Given the description of an element on the screen output the (x, y) to click on. 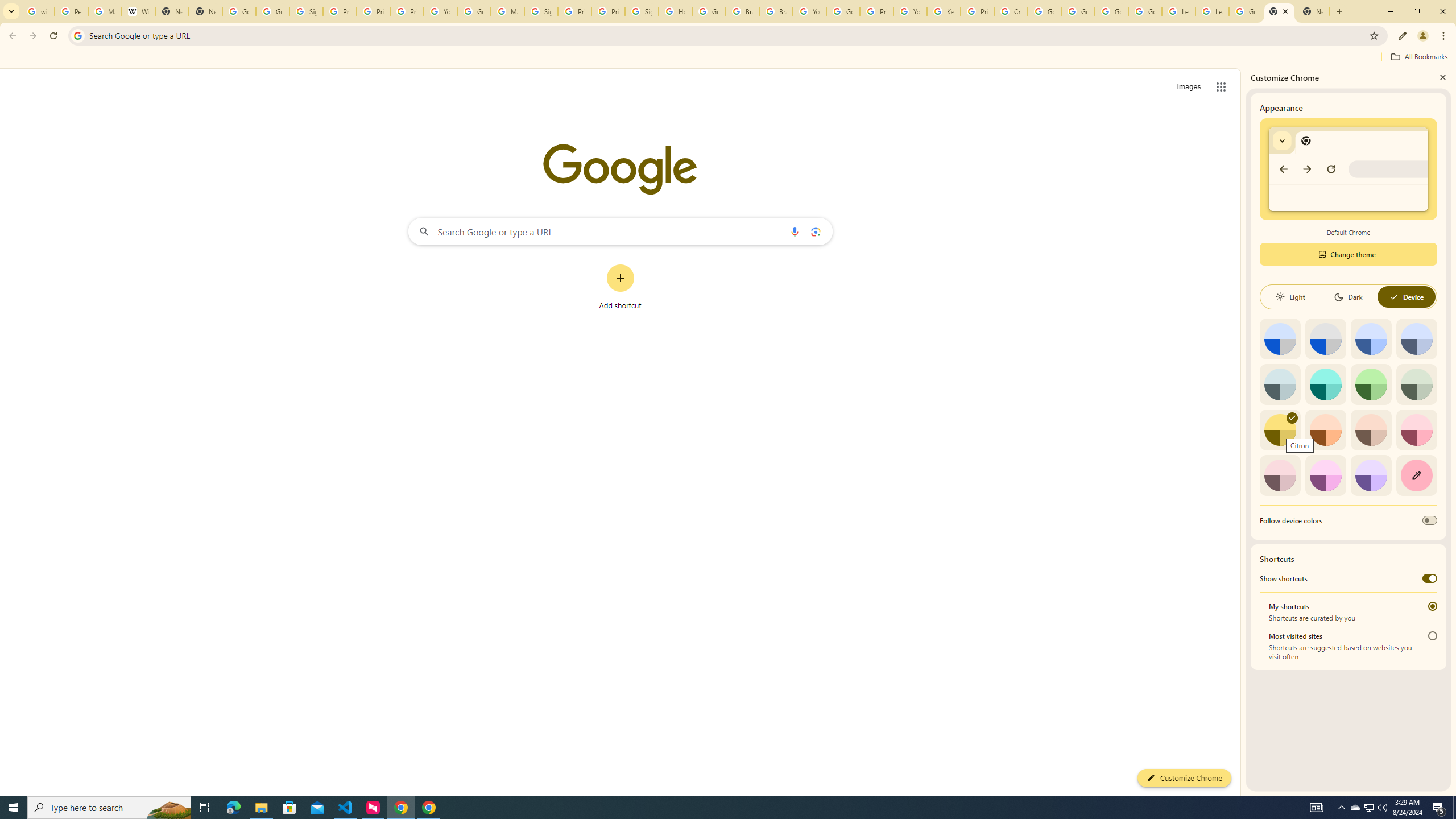
Cool grey (1416, 338)
New Tab (1279, 11)
Show shortcuts (1429, 578)
Google Account Help (474, 11)
Fuchsia (1325, 475)
Viridian (1416, 383)
Violet (1371, 475)
